Given the description of an element on the screen output the (x, y) to click on. 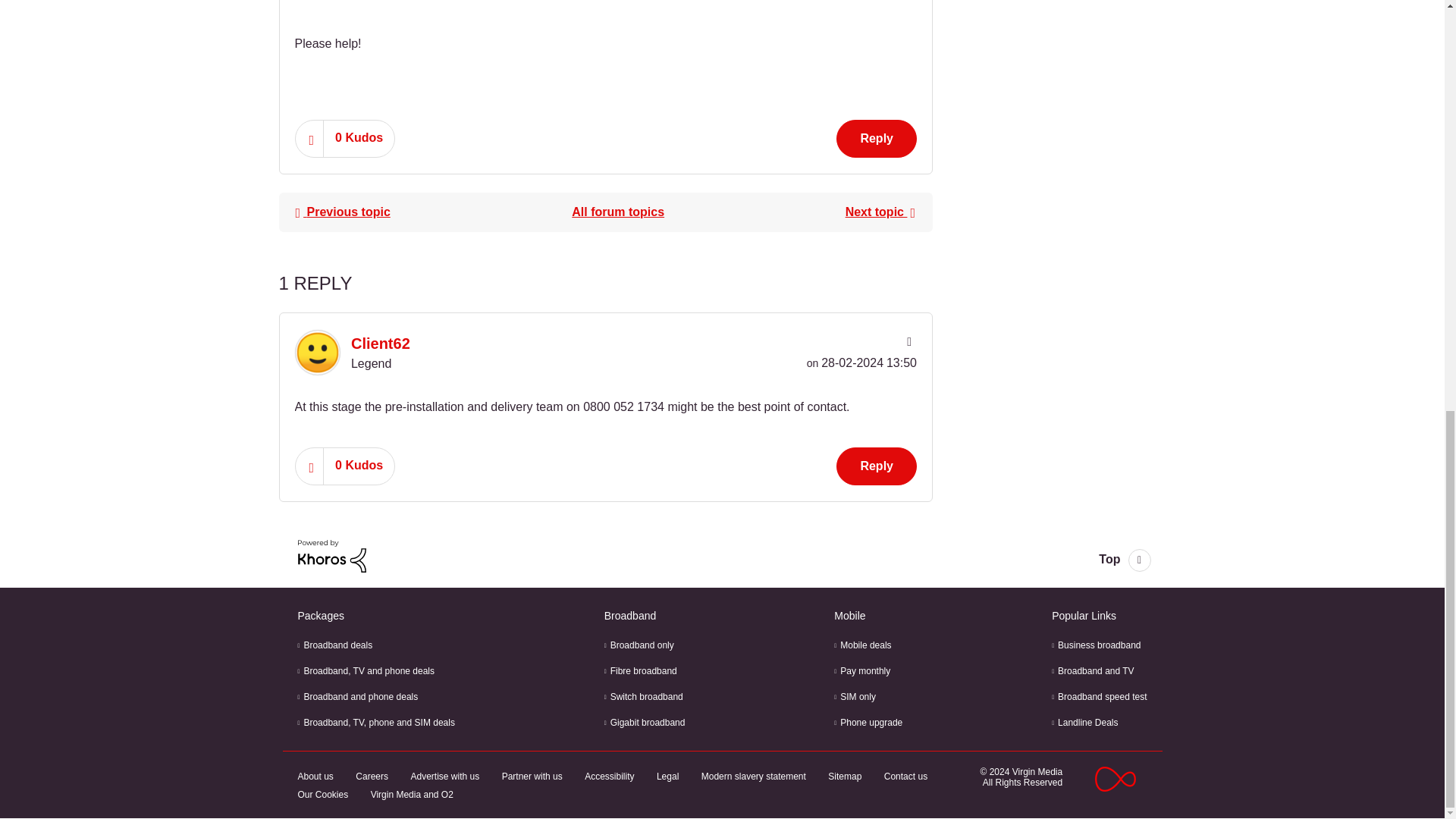
QuickStart, set up and connections (618, 211)
Pre-contract details received, now radio silence (879, 211)
The total number of kudos this post has received. (358, 137)
Client62 (316, 352)
The total number of kudos this post has received. (358, 465)
